Given the description of an element on the screen output the (x, y) to click on. 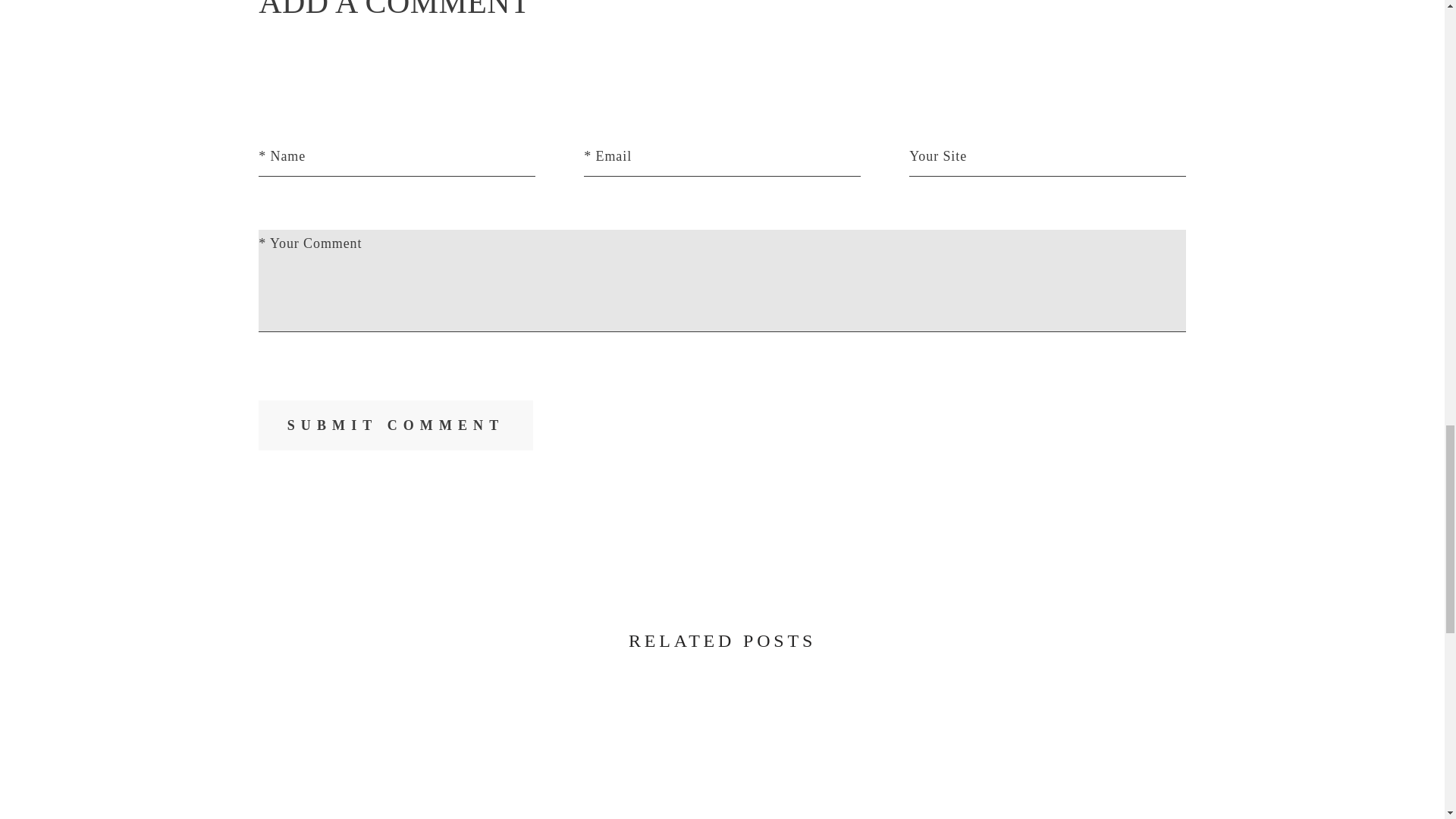
SUBMIT COMMENT (395, 425)
Taj Palace (1136, 765)
Bradderie (309, 765)
